Given the description of an element on the screen output the (x, y) to click on. 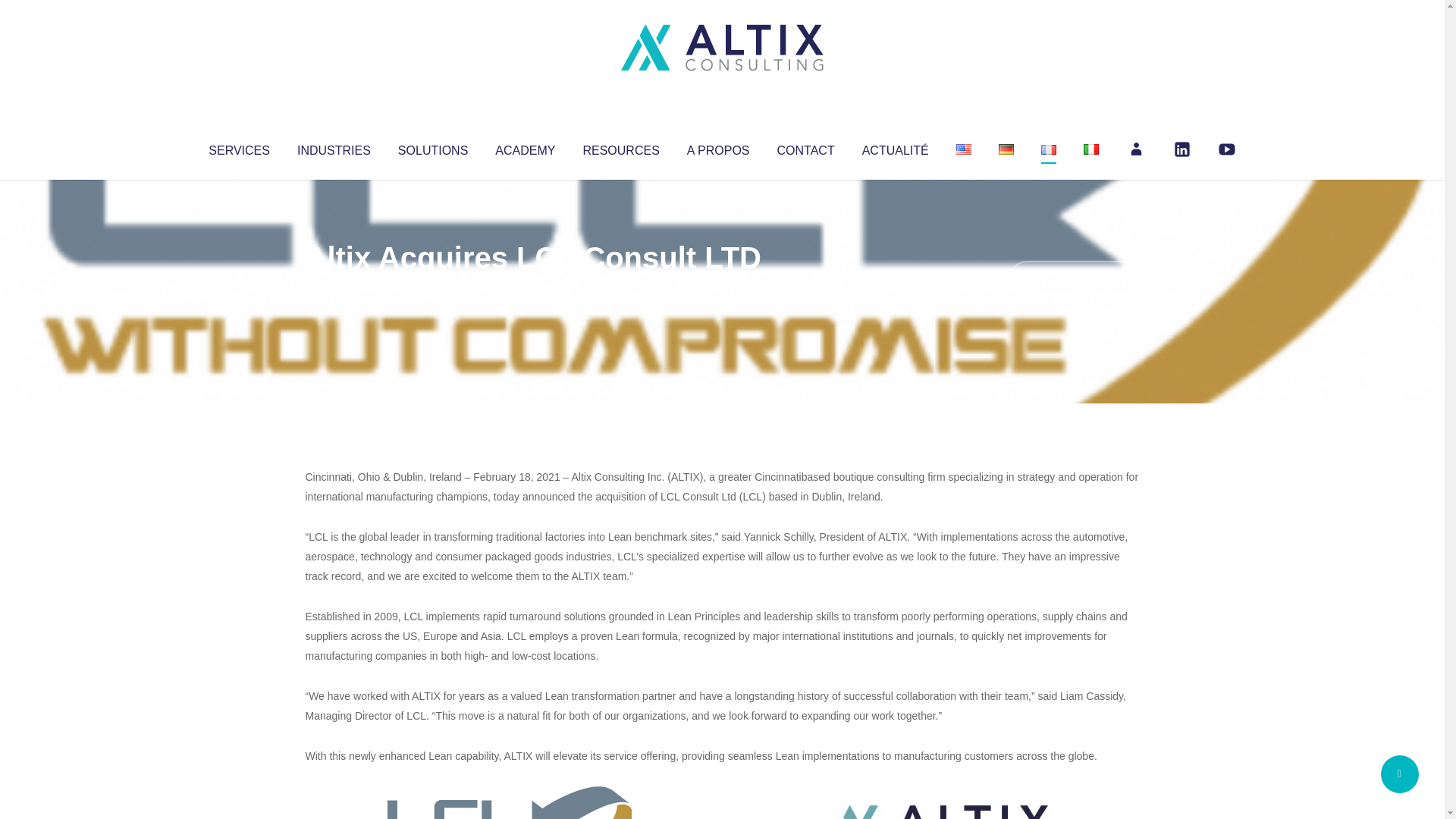
SERVICES (238, 146)
INDUSTRIES (334, 146)
Altix (333, 287)
RESOURCES (620, 146)
Articles par Altix (333, 287)
No Comments (1073, 278)
ACADEMY (524, 146)
Uncategorized (530, 287)
SOLUTIONS (432, 146)
A PROPOS (718, 146)
